Given the description of an element on the screen output the (x, y) to click on. 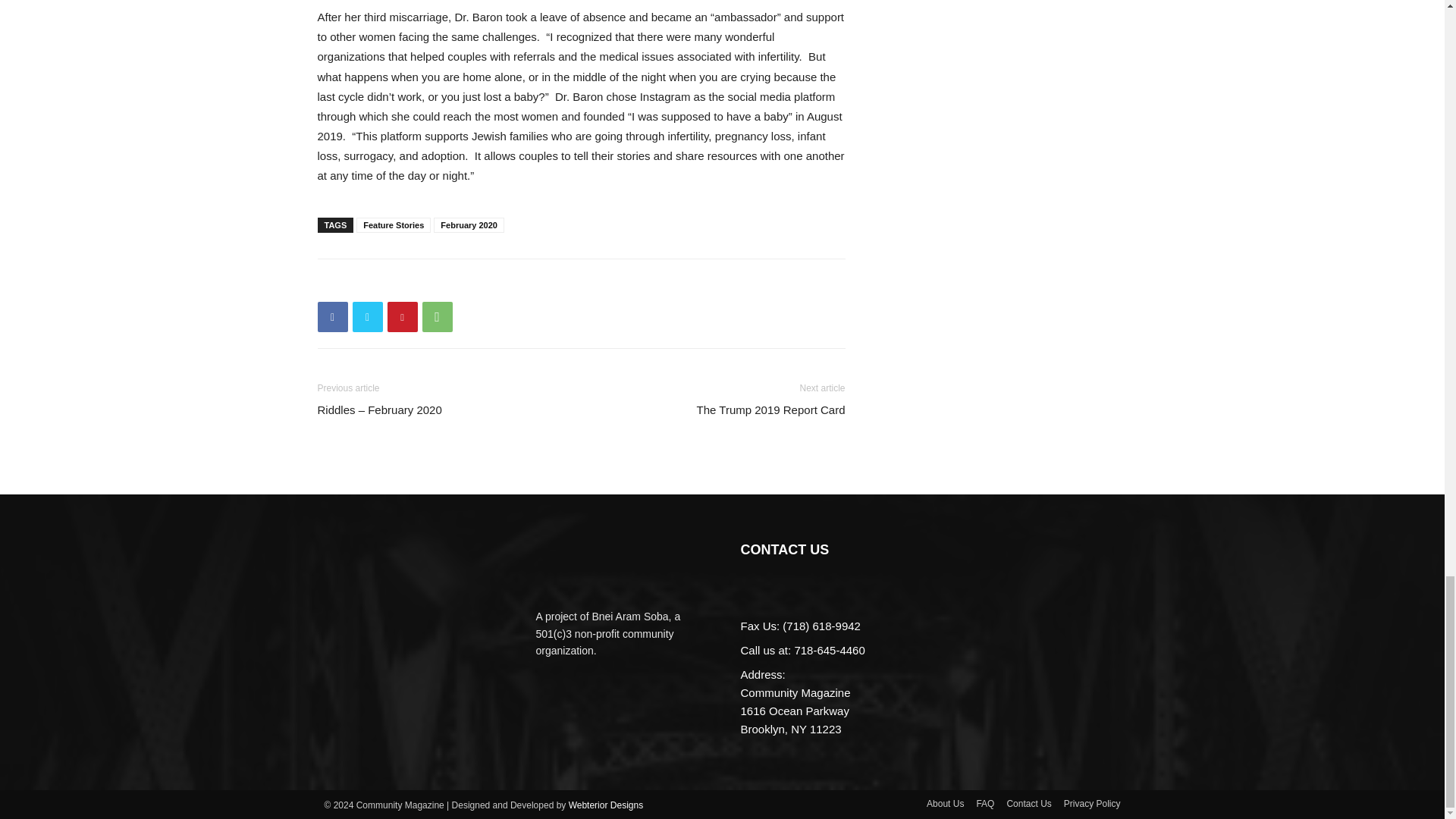
Facebook (332, 317)
Twitter (366, 317)
